Given the description of an element on the screen output the (x, y) to click on. 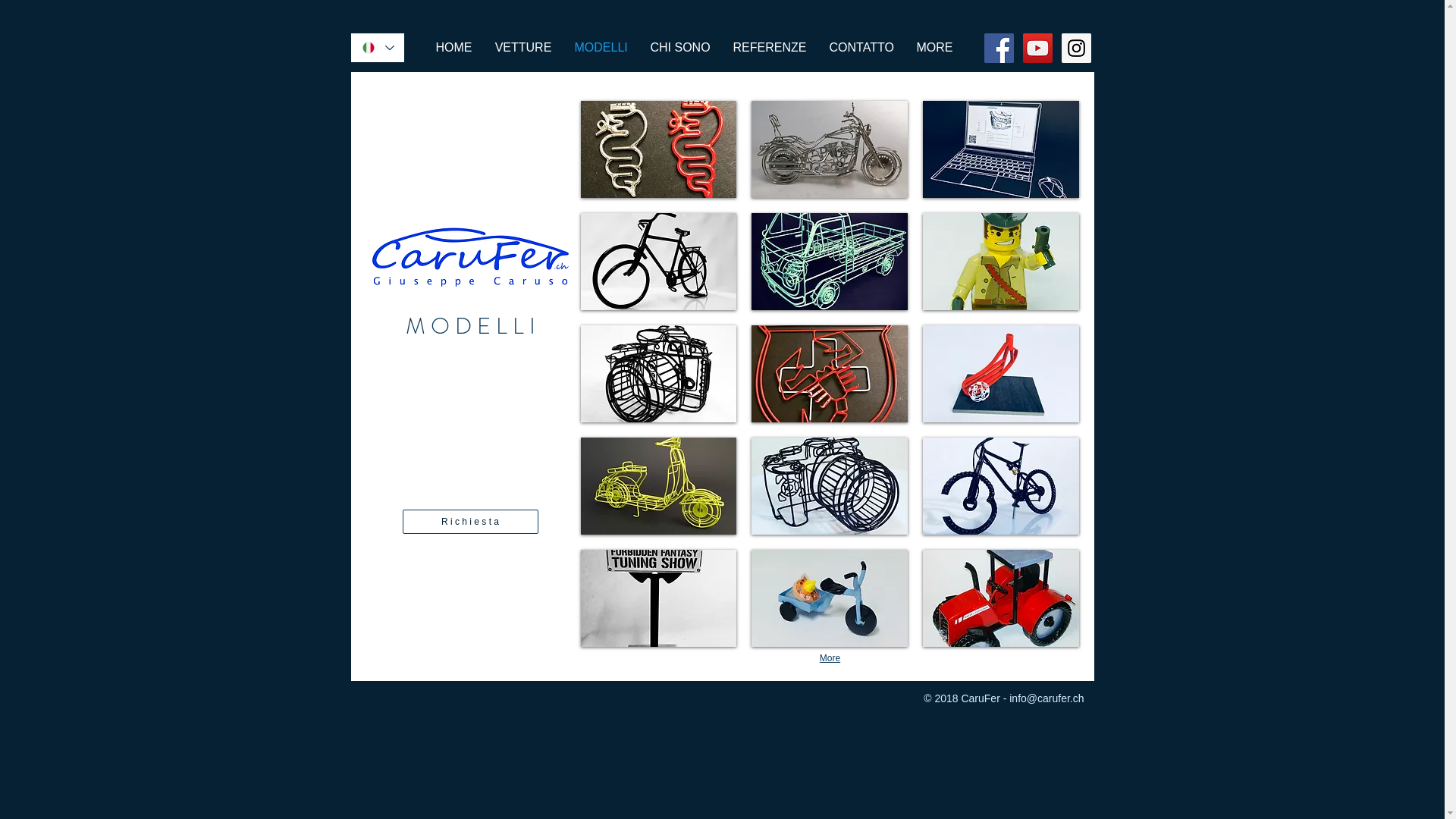
VETTURE Element type: text (523, 47)
CHI SONO Element type: text (679, 47)
More Element type: text (829, 658)
info@carufer.ch Element type: text (1046, 698)
R i c h i e s t a Element type: text (469, 521)
REFERENZE Element type: text (769, 47)
MODELLI Element type: text (600, 47)
CONTATTO Element type: text (860, 47)
HOME Element type: text (453, 47)
